Given the description of an element on the screen output the (x, y) to click on. 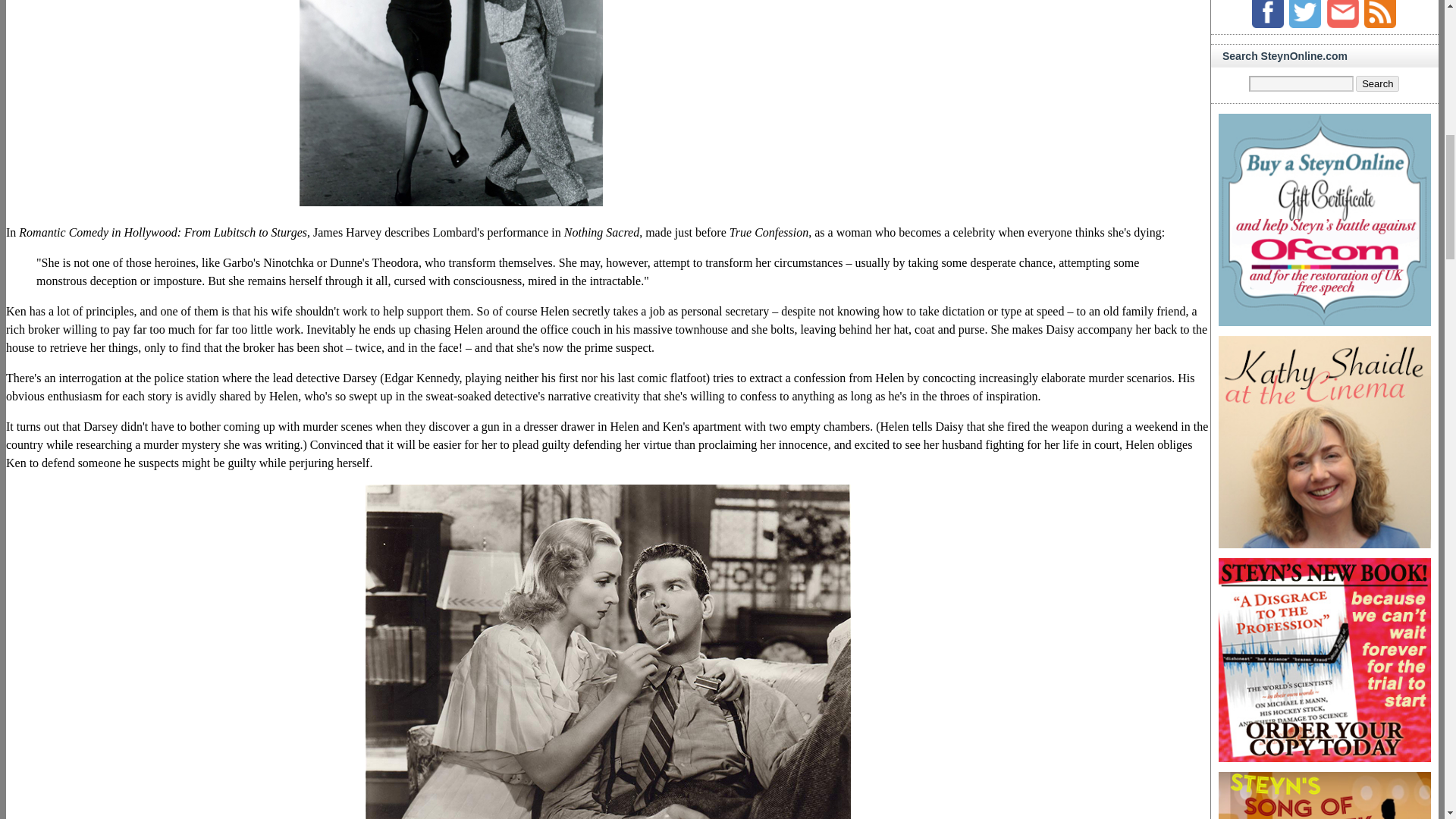
Search (1377, 83)
Facebook (1268, 13)
RSS Feed (1380, 13)
Twitter (1304, 13)
Join Mailing List (1342, 13)
